Given the description of an element on the screen output the (x, y) to click on. 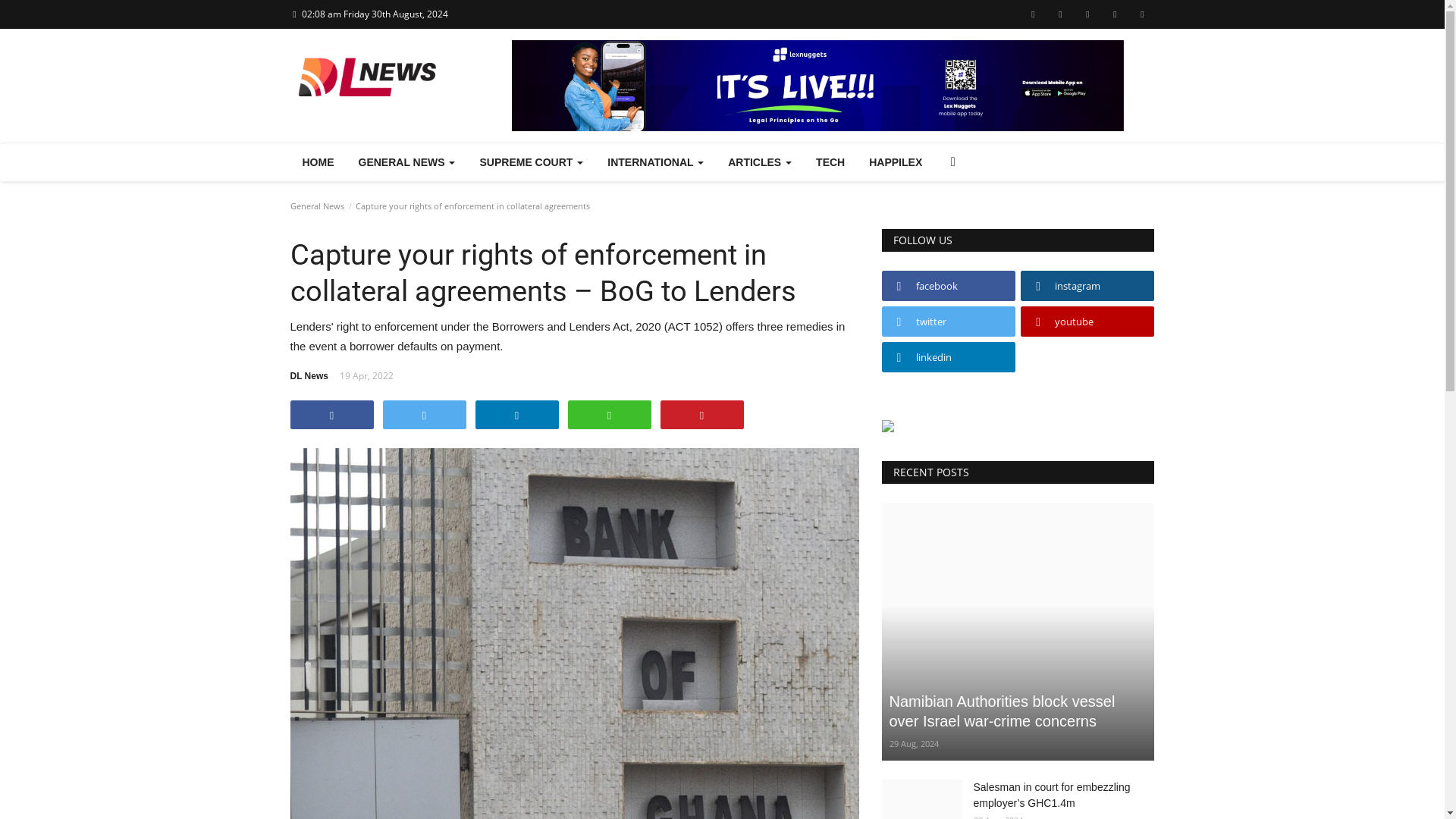
SUPREME COURT (531, 161)
INTERNATIONAL (655, 161)
Lex Nuggets is LIVE (818, 85)
TECH (830, 161)
ARTICLES (759, 161)
GENERAL NEWS (406, 161)
HOME (317, 161)
HAPPILEX (895, 161)
